Given the description of an element on the screen output the (x, y) to click on. 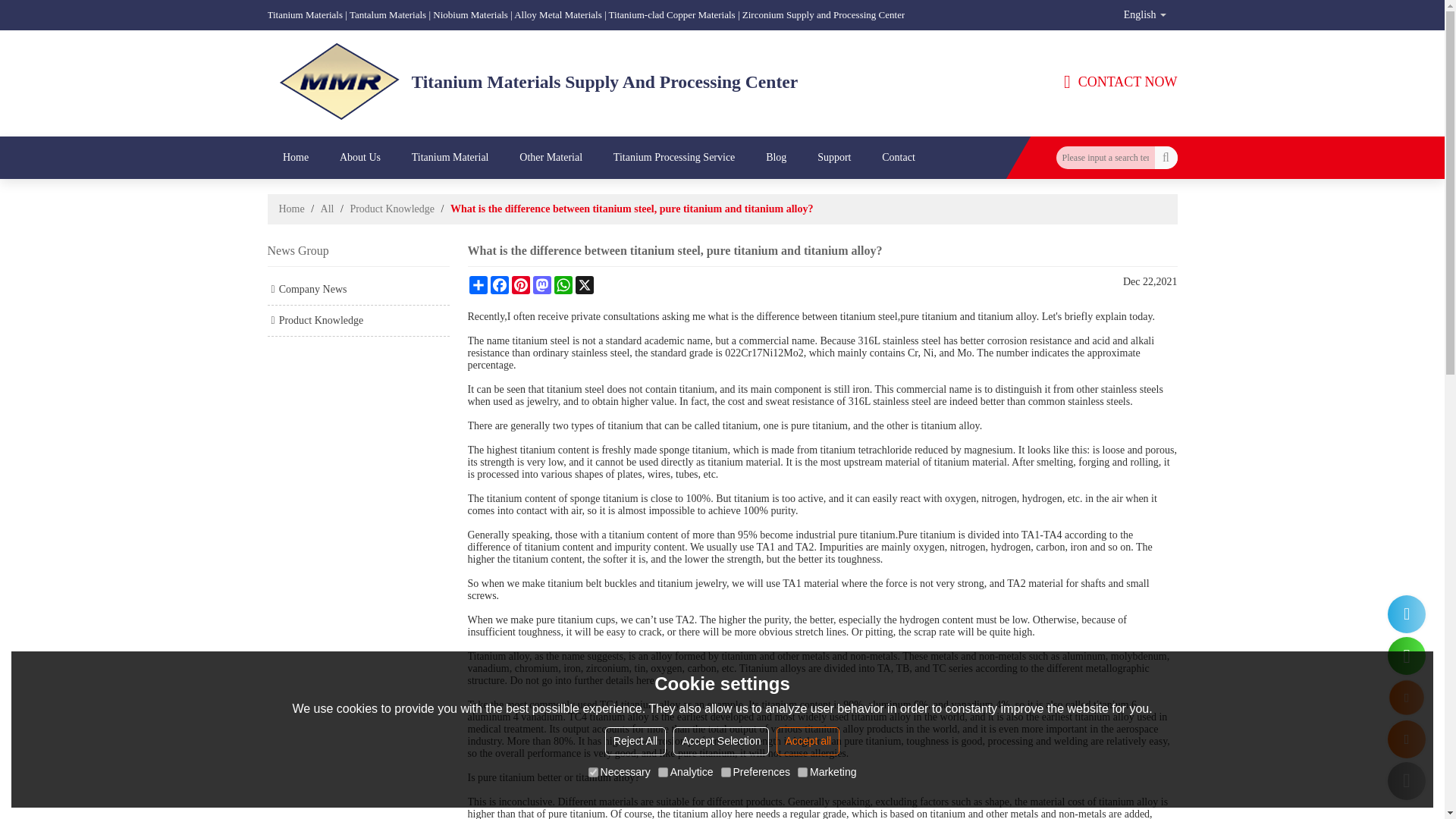
Other Material (550, 157)
on (663, 772)
on (593, 772)
Titanium Material (450, 157)
Baoji Marmara Metal Products Limited Company (339, 81)
CONTACT NOW (1120, 81)
Home (295, 157)
on (802, 772)
English (1143, 15)
English (1143, 15)
on (725, 772)
Home (295, 157)
Other Material (550, 157)
About Us (359, 157)
Titanium Material (450, 157)
